Given the description of an element on the screen output the (x, y) to click on. 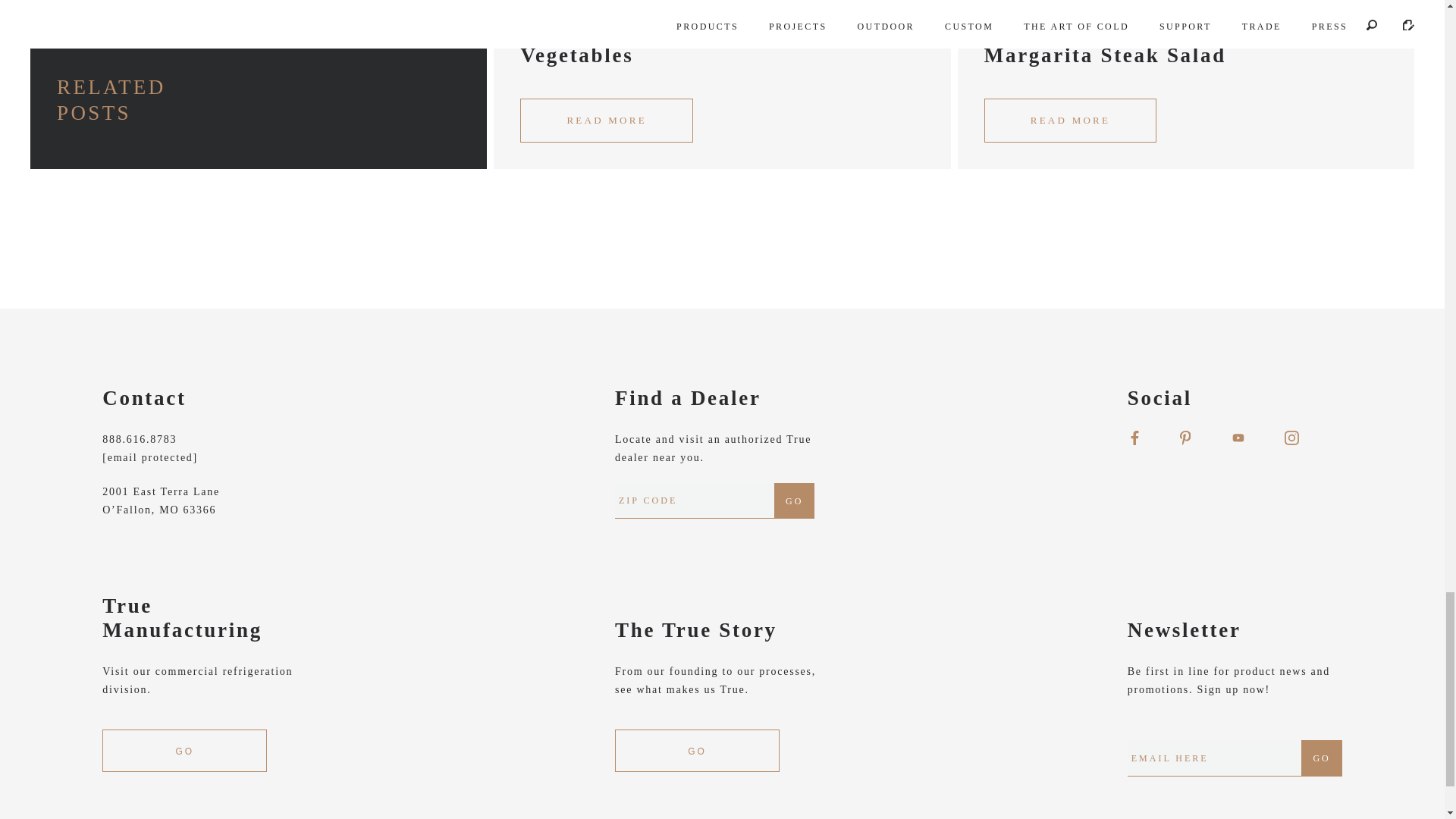
Go (793, 500)
pinterest-icon (1185, 437)
instagram-icon (1291, 437)
Go (1320, 758)
